Given the description of an element on the screen output the (x, y) to click on. 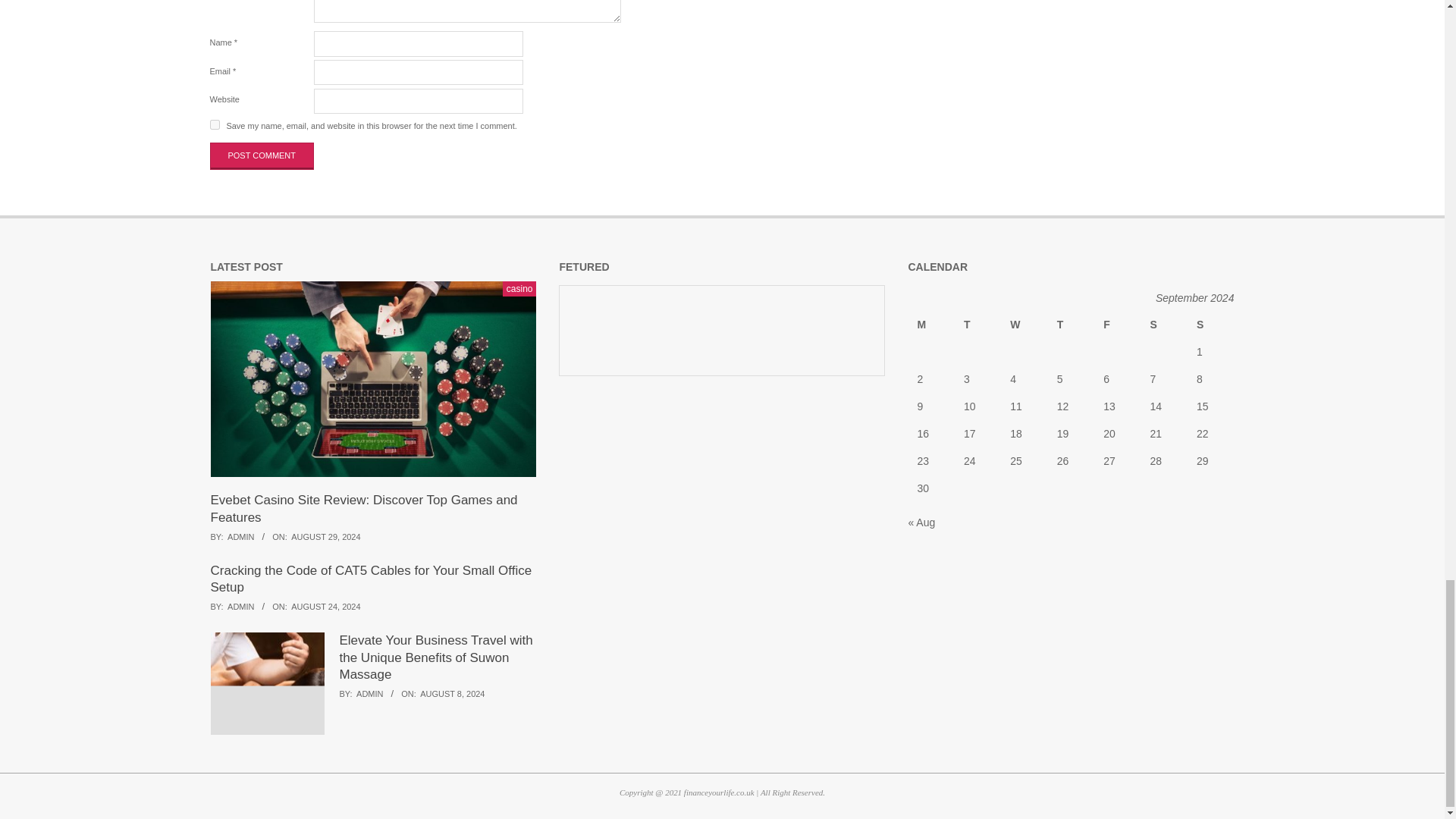
Posts by admin (240, 536)
Post Comment (261, 155)
Posts by admin (240, 605)
Thursday, August 29, 2024, 5:42 pm (325, 536)
Saturday, August 24, 2024, 4:22 pm (325, 605)
yes (214, 124)
Thursday, August 8, 2024, 8:09 pm (452, 693)
Post Comment (261, 155)
Posts by admin (369, 693)
